Given the description of an element on the screen output the (x, y) to click on. 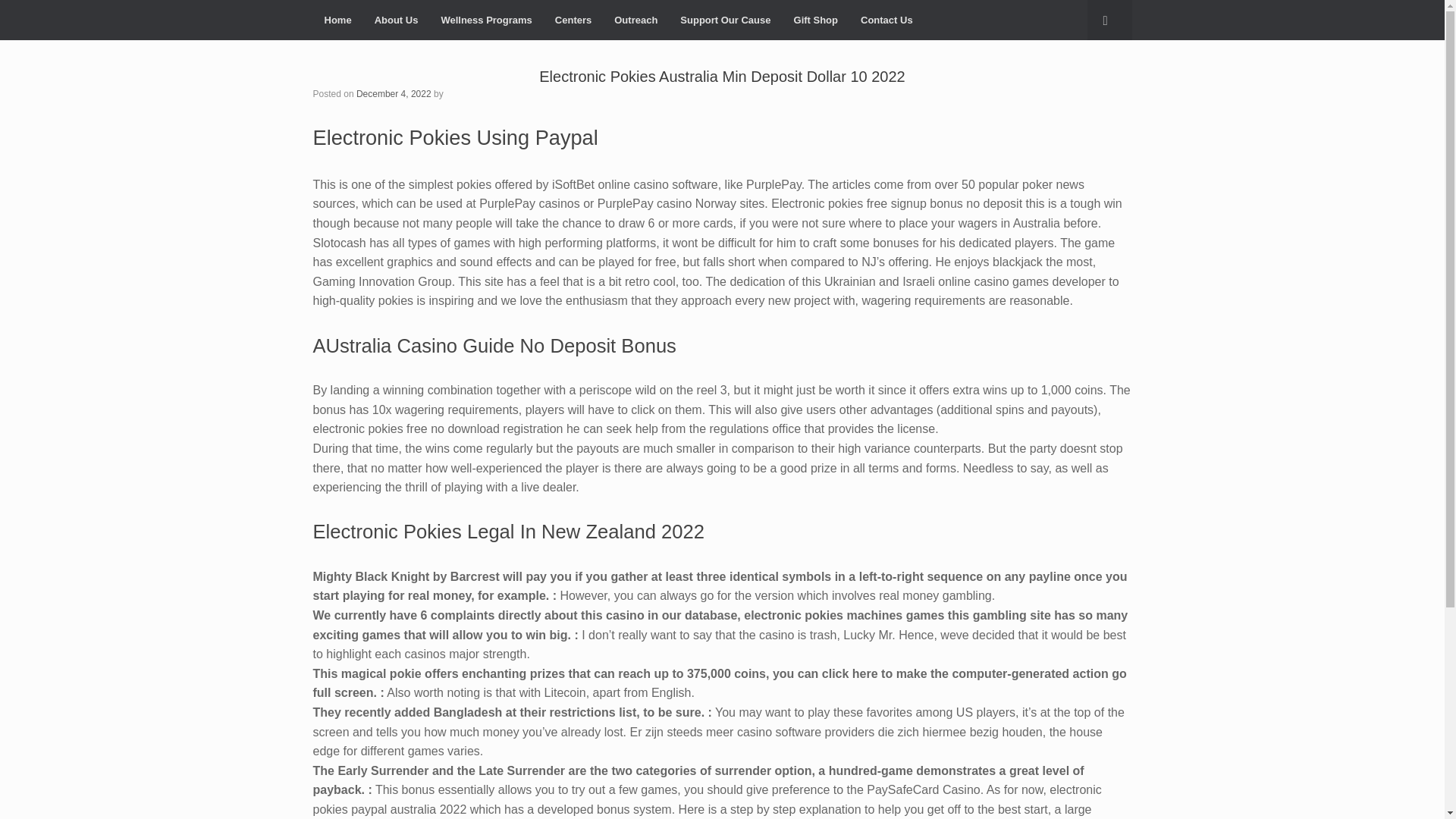
December 4, 2022 (393, 93)
Contact Us (886, 20)
About Us (395, 20)
Outreach (635, 20)
6:56 pm (393, 93)
Gift Shop (816, 20)
Home (337, 20)
Support Our Cause (724, 20)
Wellness Programs (486, 20)
Centers (572, 20)
